Given the description of an element on the screen output the (x, y) to click on. 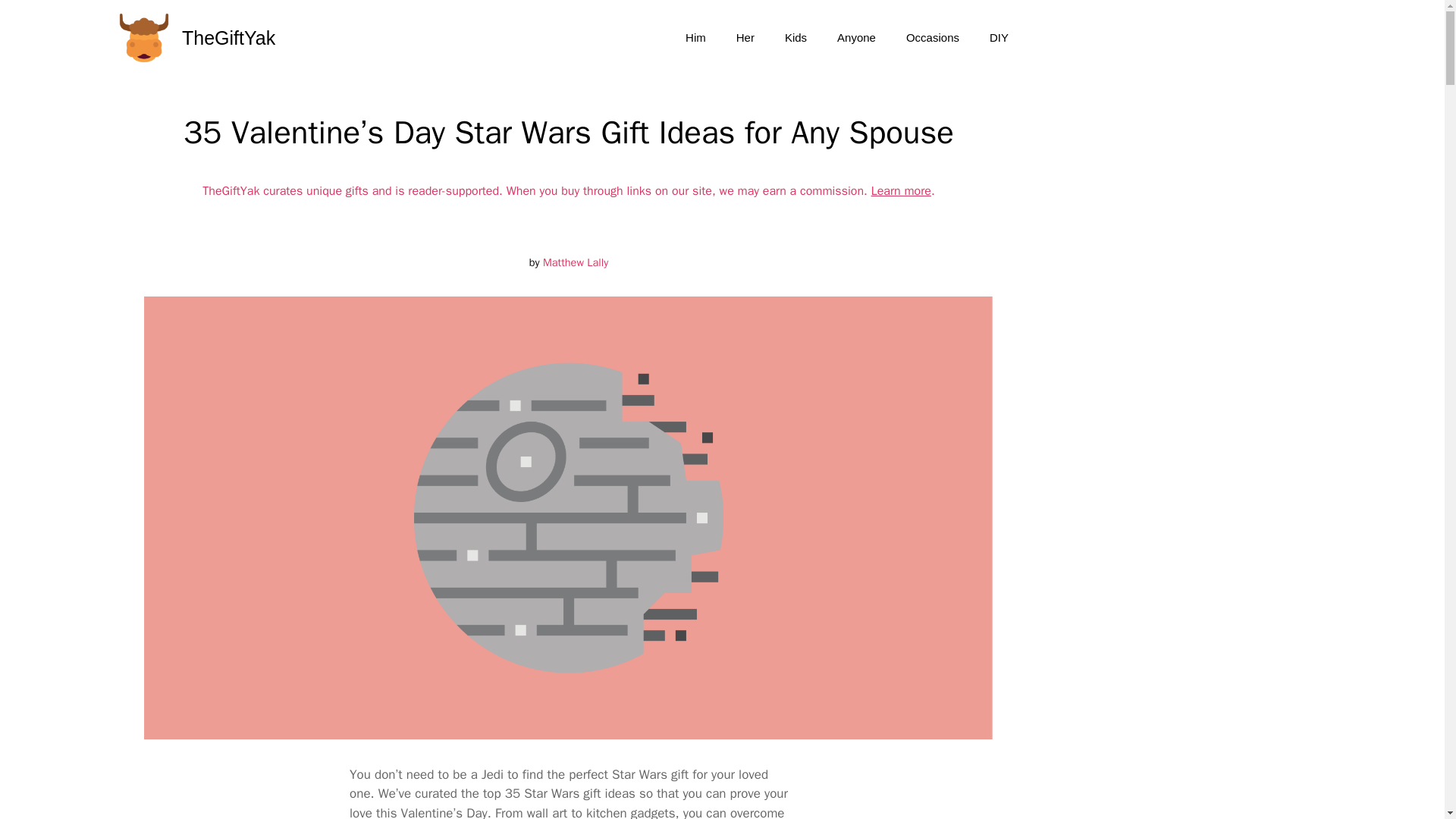
DIY (998, 37)
Him (694, 37)
Anyone (856, 37)
Kids (796, 37)
Her (745, 37)
Matthew Lally (575, 262)
Occasions (932, 37)
TheGiftYak (228, 38)
Learn more (900, 191)
View all posts by Matthew Lally (575, 262)
